Given the description of an element on the screen output the (x, y) to click on. 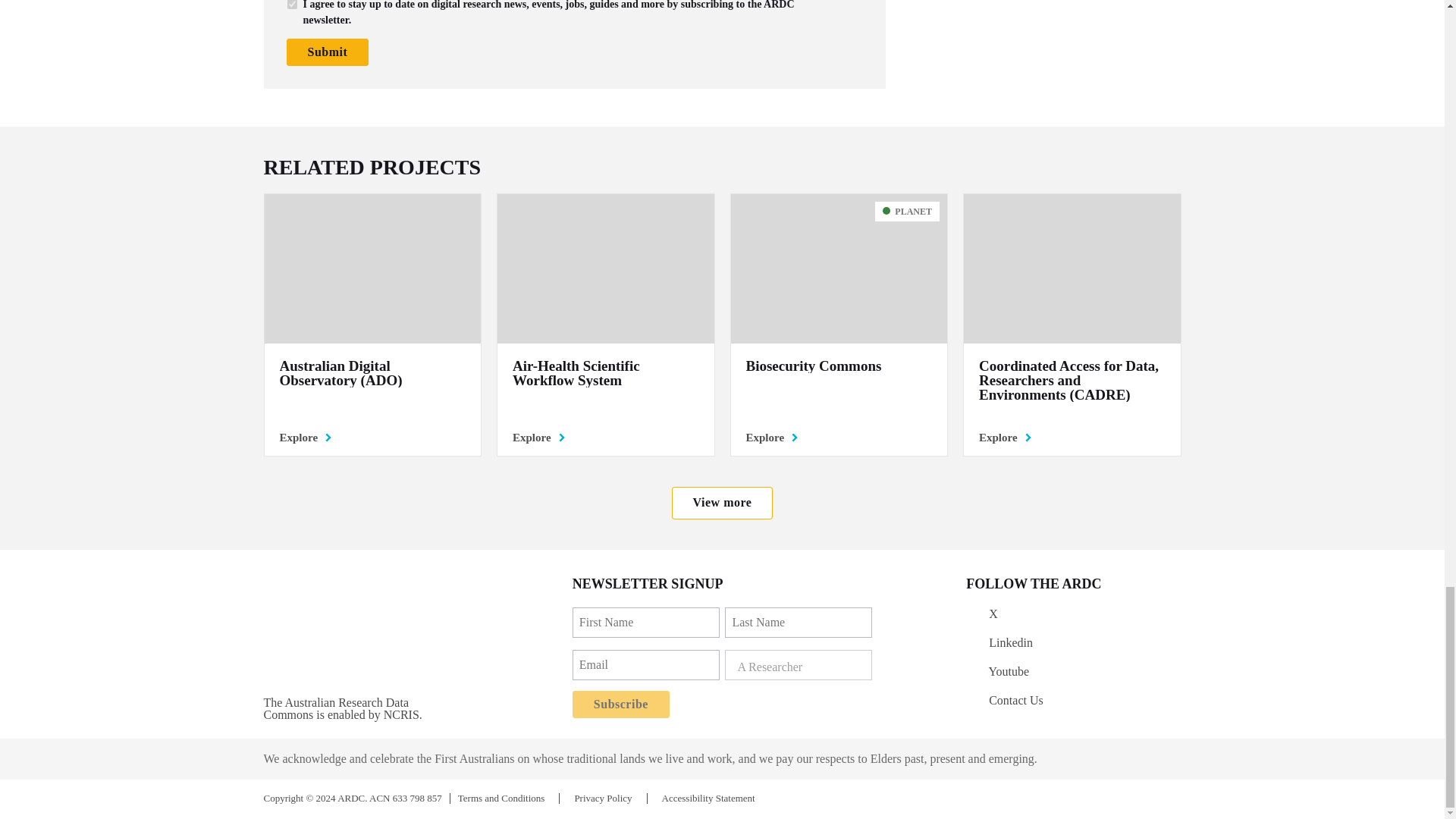
Submit (327, 52)
Subscribe (620, 704)
